Given the description of an element on the screen output the (x, y) to click on. 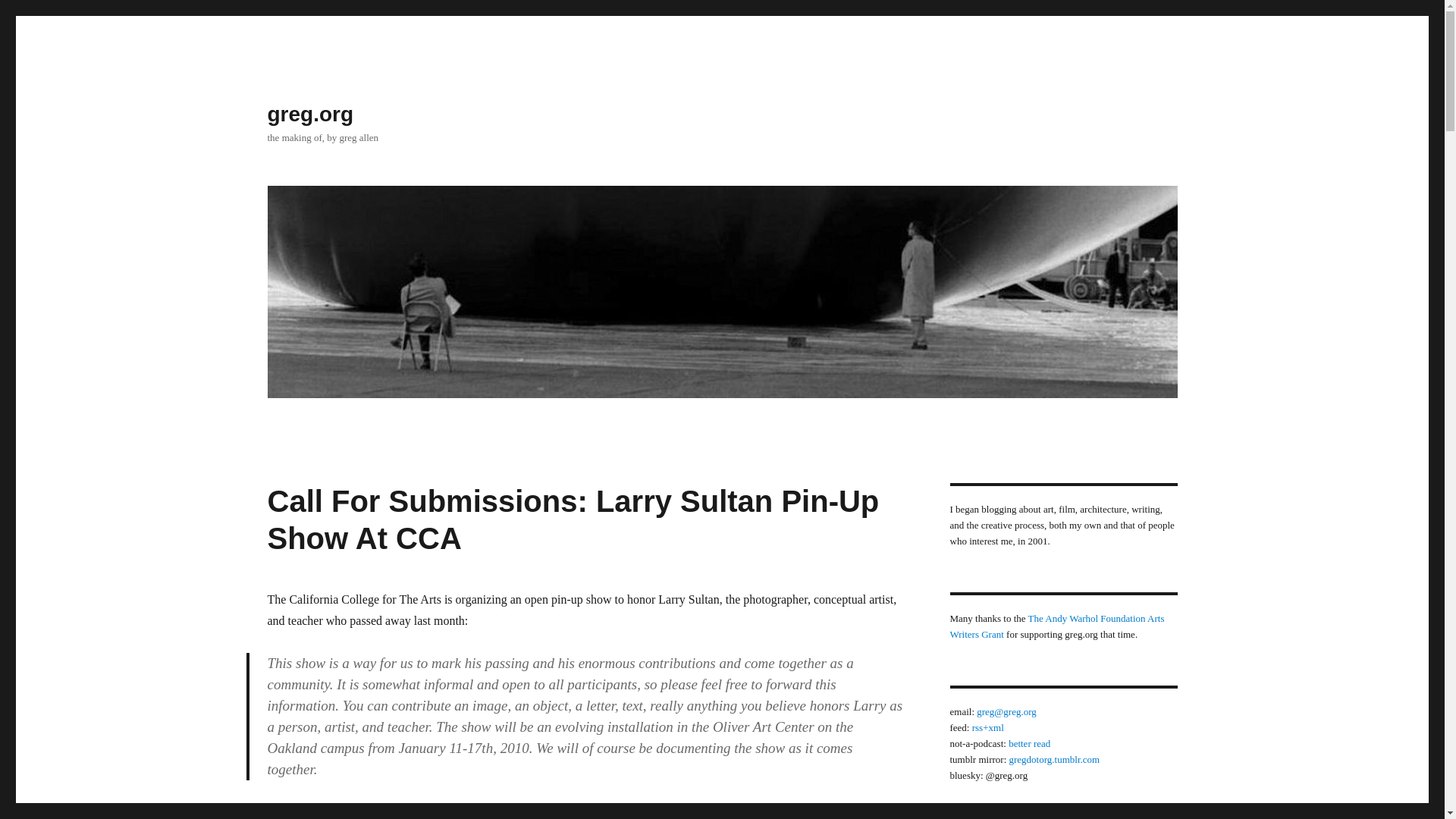
The Andy Warhol Foundation Arts Writers Grant (1056, 625)
greg.org (309, 114)
better read (1029, 743)
gregdotorg.tumblr.com (1054, 758)
